Given the description of an element on the screen output the (x, y) to click on. 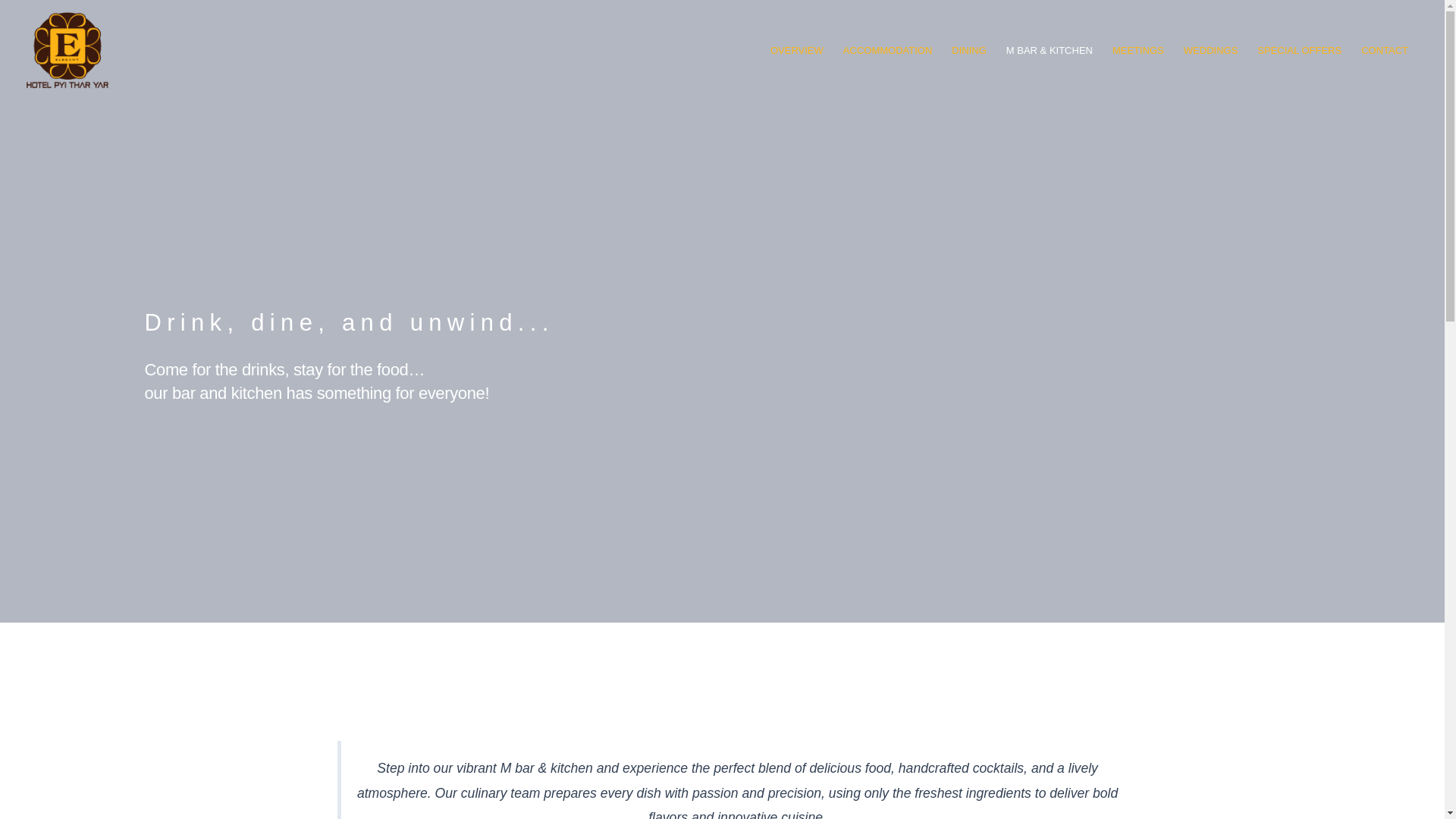
OVERVIEW (796, 50)
SPECIAL OFFERS (1299, 50)
WEDDINGS (1210, 50)
MEETINGS (1137, 50)
CONTACT (1384, 50)
ACCOMMODATION (887, 50)
DINING (968, 50)
